Given the description of an element on the screen output the (x, y) to click on. 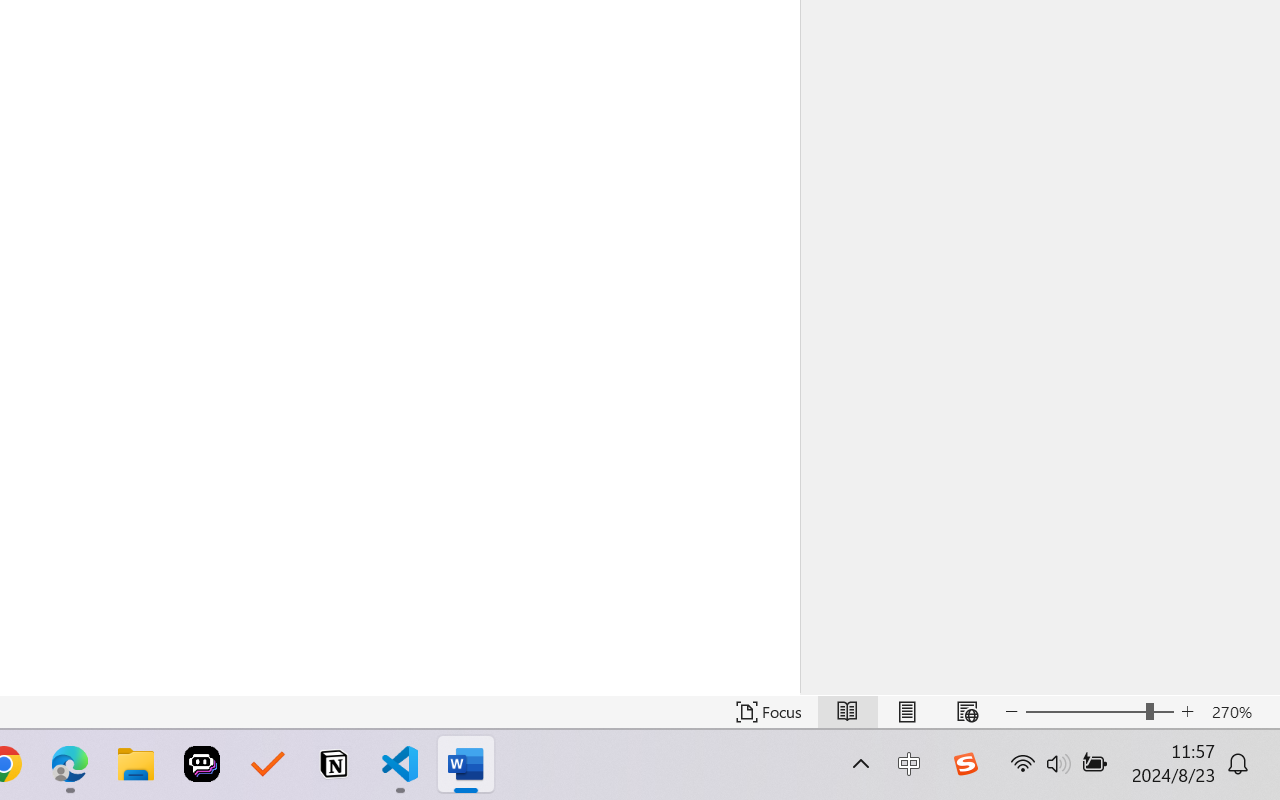
Decrease Text Size (1011, 712)
Increase Text Size (1187, 712)
